Given the description of an element on the screen output the (x, y) to click on. 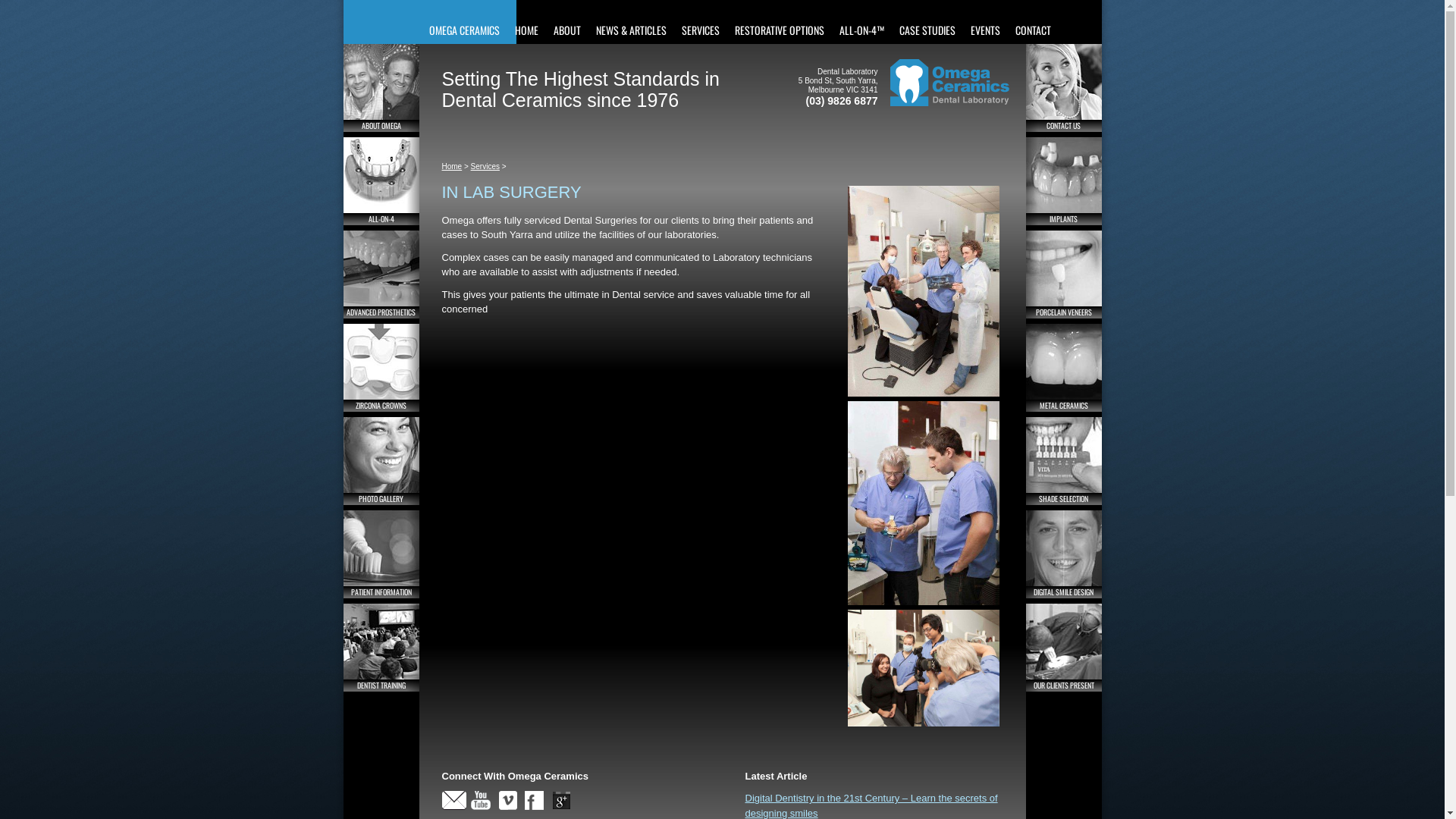
CASE STUDIES Element type: text (927, 21)
PHOTO GALLERY Element type: text (380, 461)
OUR CLIENTS PRESENT Element type: text (1063, 647)
CONTACT Element type: text (1032, 21)
DENTIST TRAINING Element type: text (380, 647)
ZIRCONIA CROWNS Element type: text (380, 367)
EVENTS Element type: text (985, 21)
METAL CERAMICS Element type: text (1063, 367)
NEWS & ARTICLES Element type: text (631, 21)
DIGITAL SMILE DESIGN Element type: text (1063, 554)
SERVICES Element type: text (699, 21)
CONTACT US Element type: text (1063, 87)
ALL-ON-4 Element type: text (380, 181)
OMEGA CERAMICS Element type: text (464, 21)
HOME Element type: text (525, 21)
PATIENT INFORMATION Element type: text (380, 554)
SHADE SELECTION Element type: text (1063, 461)
IMPLANTS Element type: text (1063, 181)
Home Element type: text (451, 166)
ABOUT Element type: text (567, 21)
PORCELAIN VENEERS Element type: text (1063, 274)
ABOUT OMEGA Element type: text (380, 87)
RESTORATIVE OPTIONS Element type: text (778, 21)
ADVANCED PROSTHETICS Element type: text (380, 274)
Services Element type: text (484, 166)
